Given the description of an element on the screen output the (x, y) to click on. 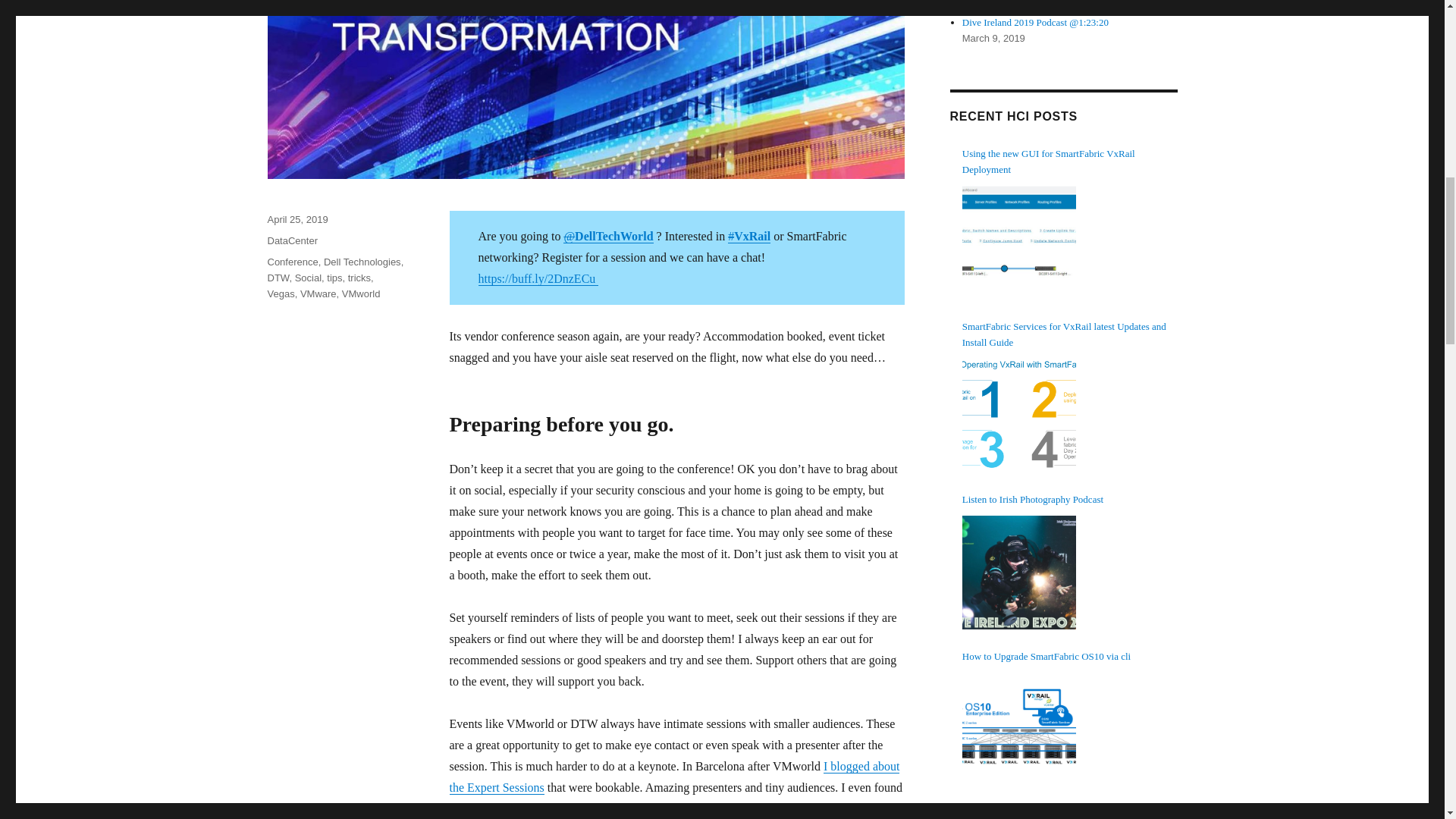
April 25, 2019 (296, 219)
tips (334, 277)
I blogged about the Expert Sessions (673, 776)
Using the new GUI for SmartFabric VxRail Deployment (1069, 162)
Social (308, 277)
Dell Technologies (362, 261)
Conference (291, 261)
Listen to Irish Photography Podcast (1018, 572)
tricks (359, 277)
VMware (317, 293)
VMworld (361, 293)
DTW (277, 277)
Vegas (280, 293)
